Given the description of an element on the screen output the (x, y) to click on. 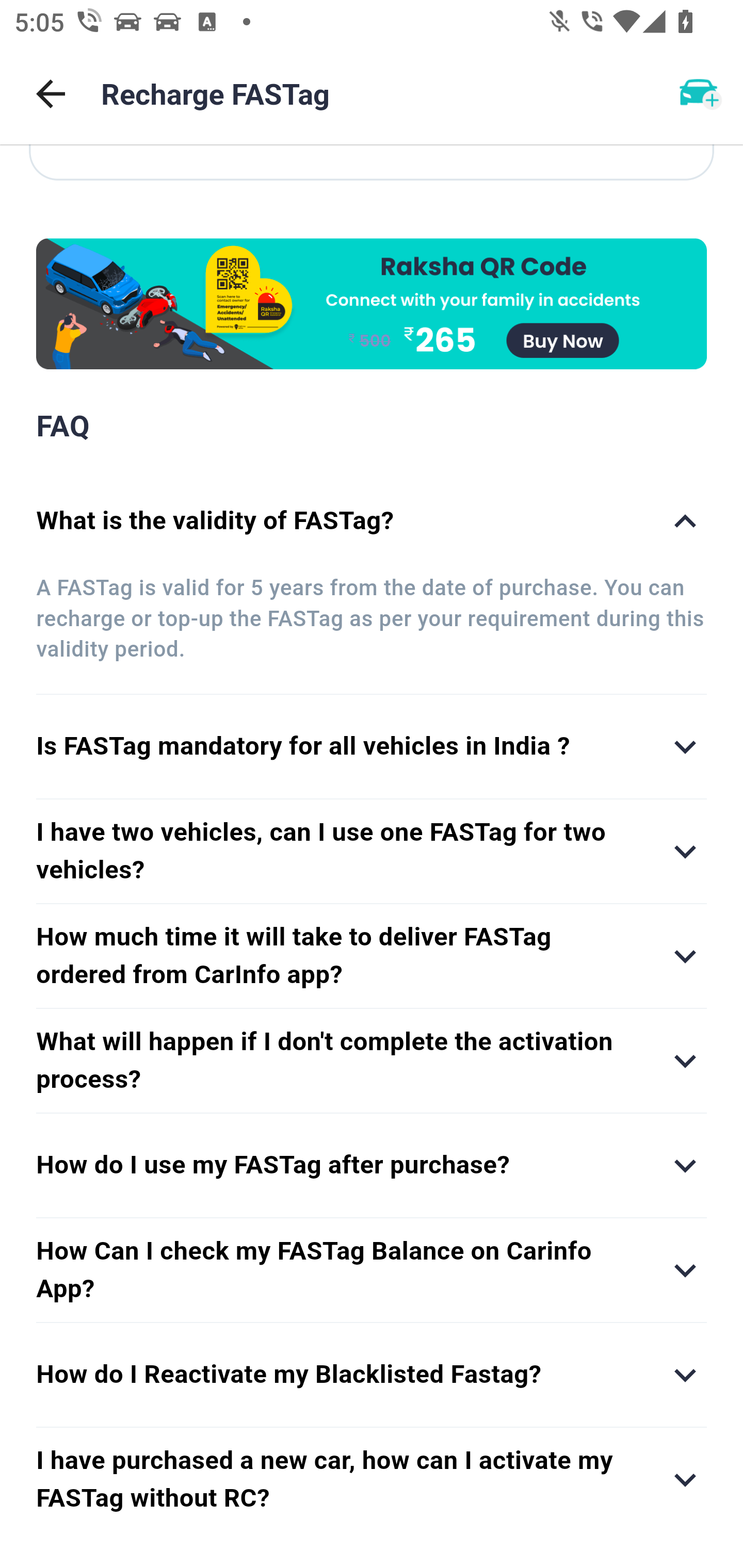
Back (50, 93)
Is FASTag mandatory for all vehicles in India ? (371, 746)
How do I use my FASTag after purchase? (371, 1165)
How Can I check my FASTag Balance on Carinfo App? (371, 1269)
How do I Reactivate my Blacklisted Fastag? (371, 1373)
